Given the description of an element on the screen output the (x, y) to click on. 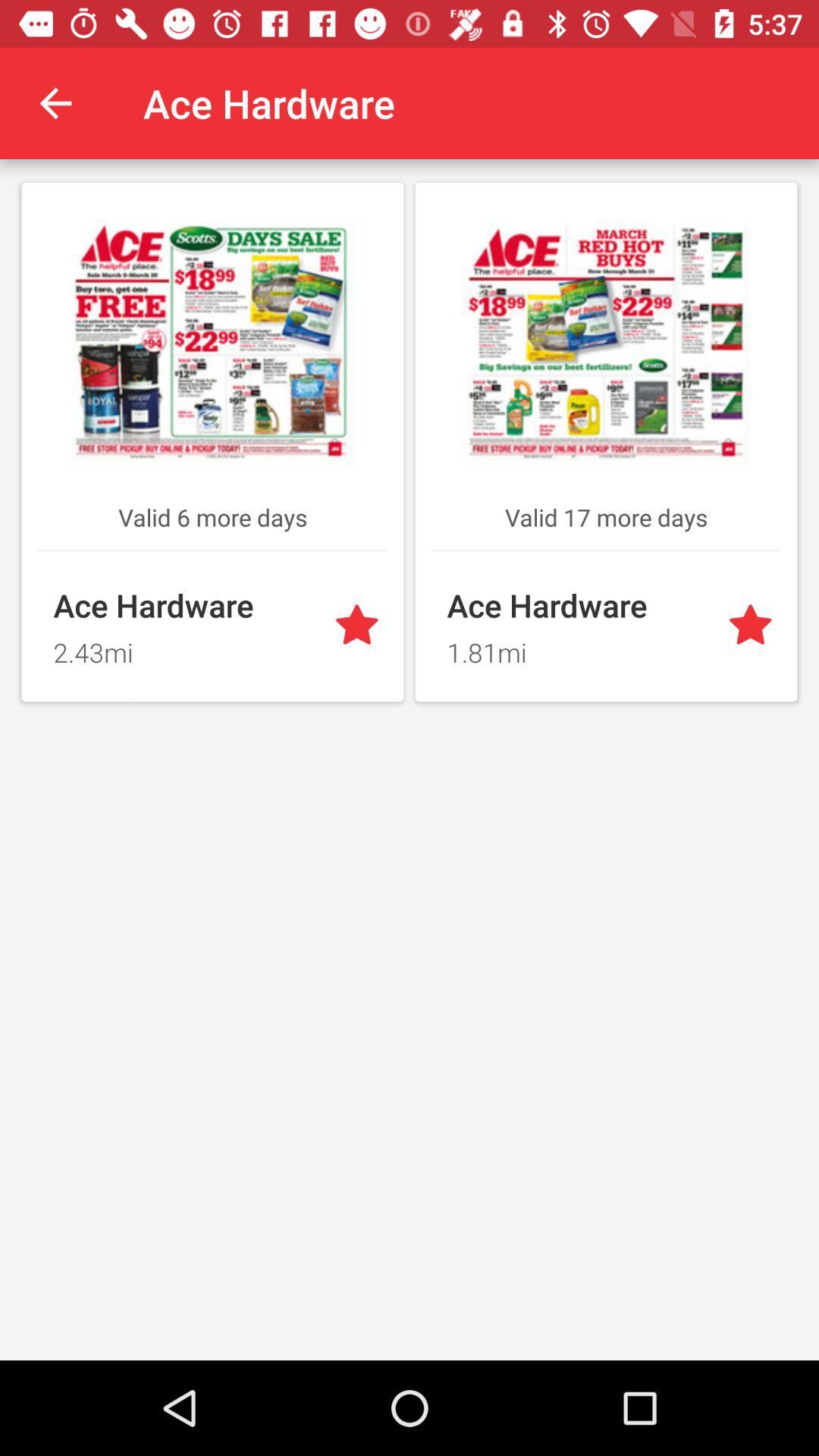
swipe until the 2.43mi (184, 647)
